Given the description of an element on the screen output the (x, y) to click on. 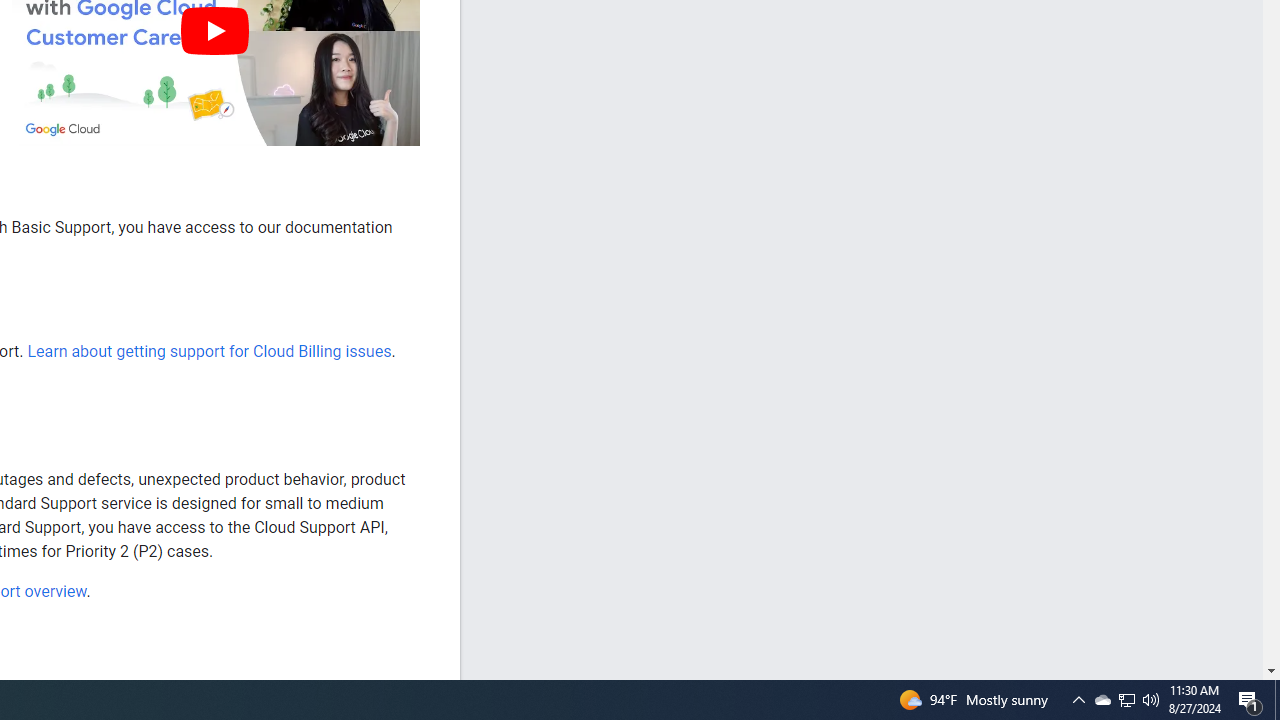
Learn about getting support for Cloud Billing issues (208, 351)
Play (214, 29)
